Given the description of an element on the screen output the (x, y) to click on. 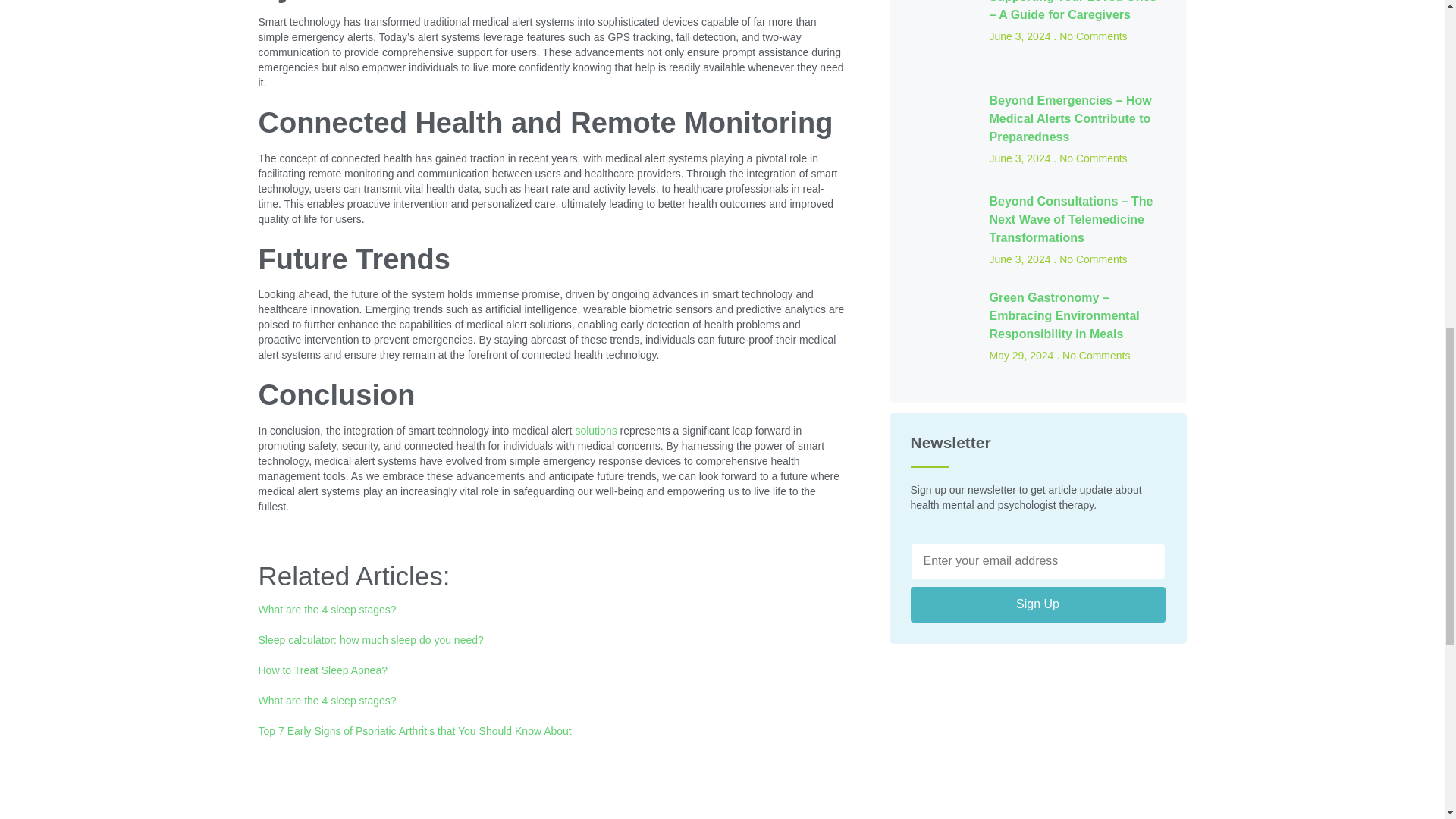
What are the 4 sleep stages? (326, 700)
Sleep calculator: how much sleep do you need? (370, 639)
solutions (595, 430)
What are the 4 sleep stages? (326, 609)
How to Treat Sleep Apnea? (322, 670)
Sign Up (1037, 604)
